Given the description of an element on the screen output the (x, y) to click on. 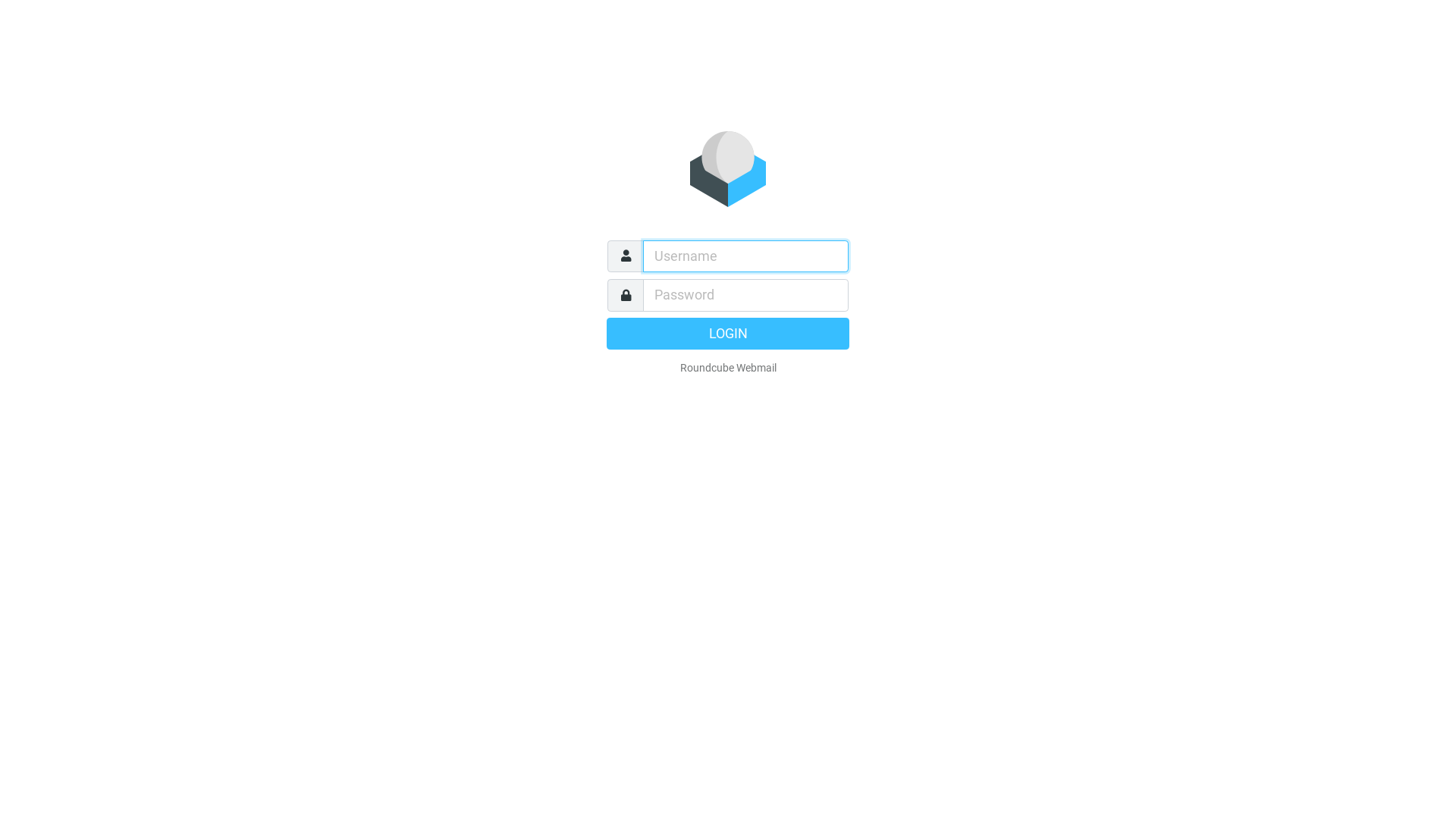
LOGIN Element type: text (727, 332)
